Given the description of an element on the screen output the (x, y) to click on. 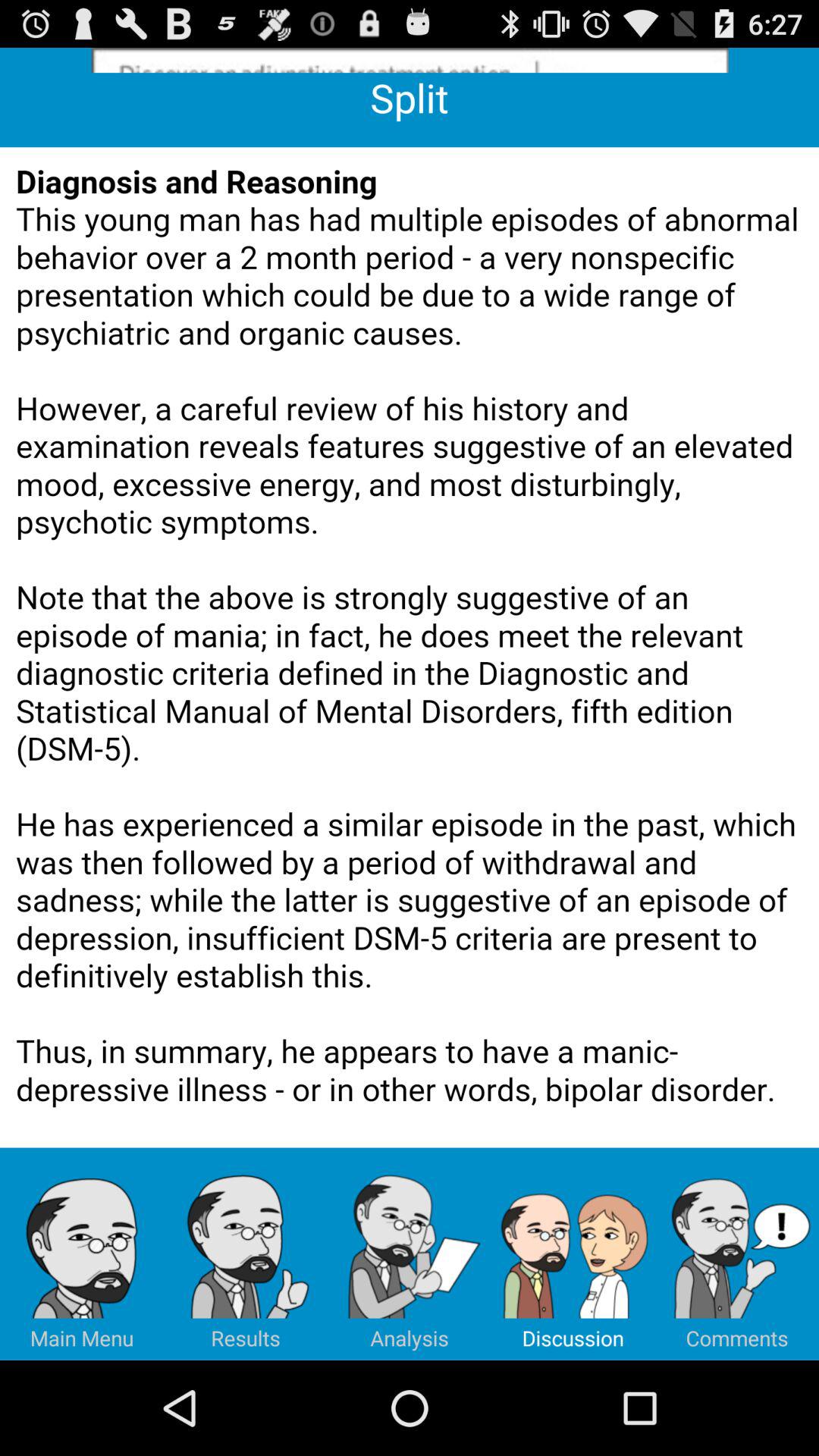
search bar (409, 59)
